Given the description of an element on the screen output the (x, y) to click on. 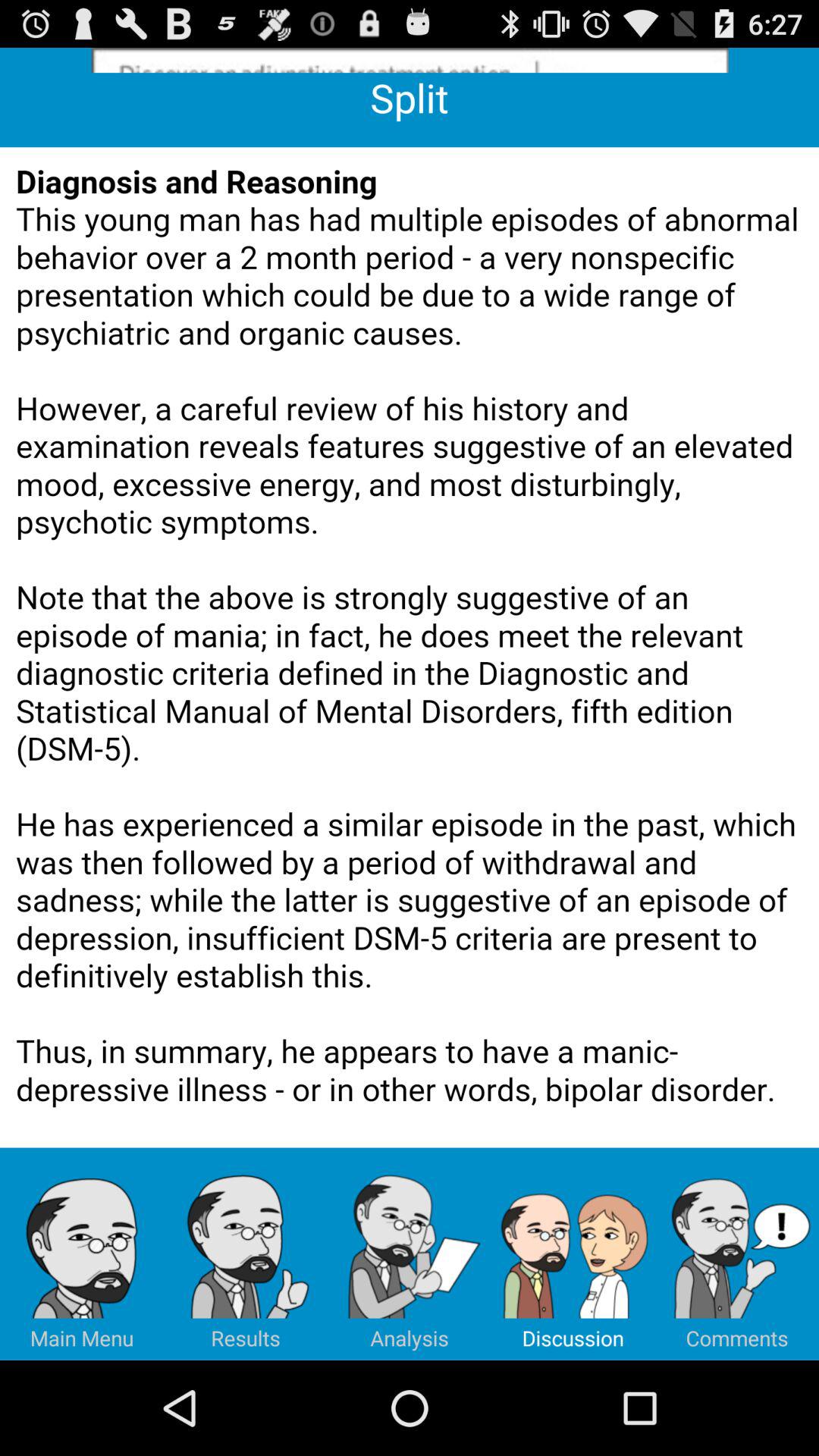
search bar (409, 59)
